Given the description of an element on the screen output the (x, y) to click on. 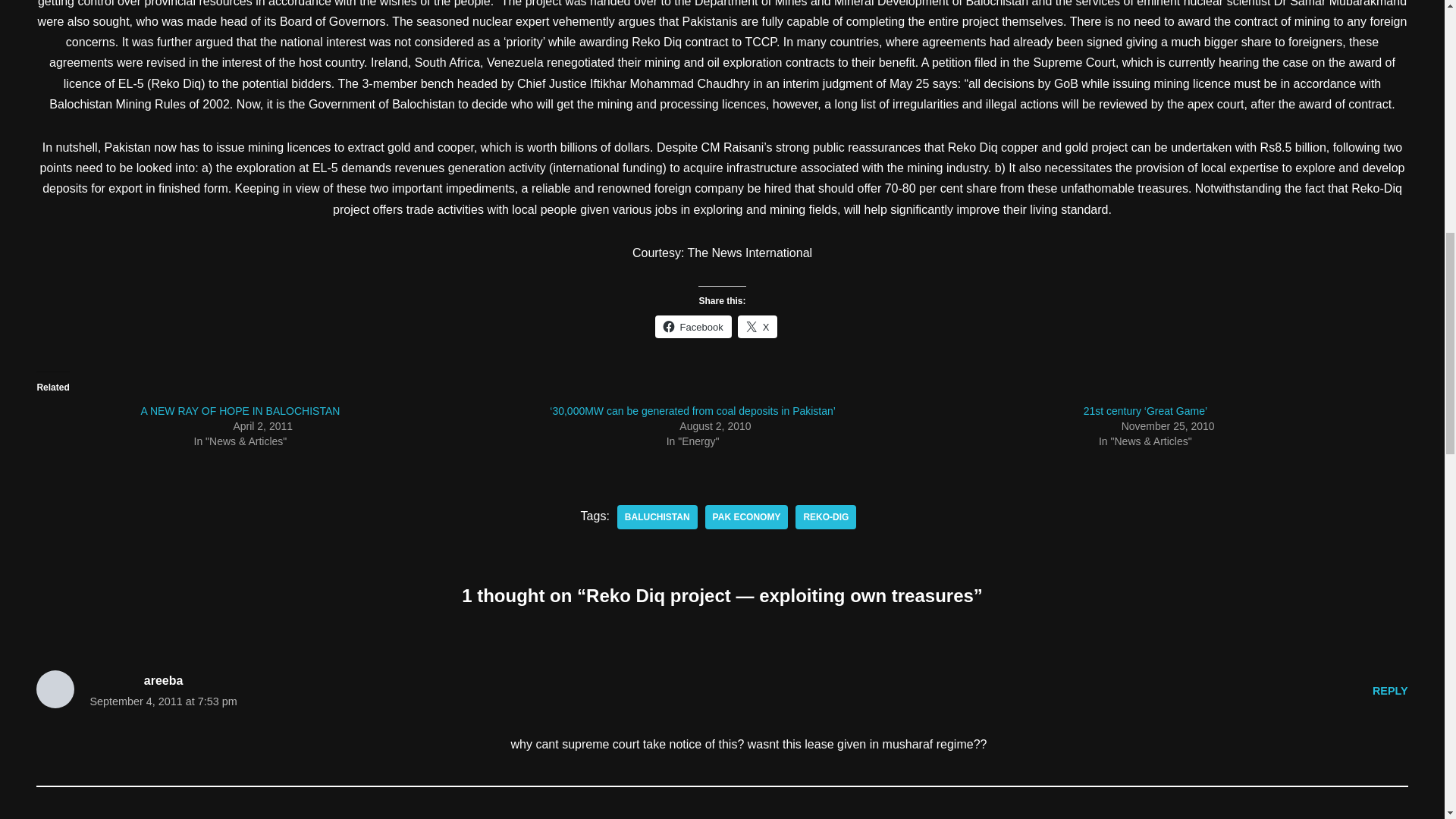
Baluchistan (657, 517)
Click to share on Facebook (693, 326)
Click to share on X (757, 326)
A NEW RAY OF HOPE IN BALOCHISTAN (239, 410)
Pak Economy (746, 517)
Reko-dig (825, 517)
